Given the description of an element on the screen output the (x, y) to click on. 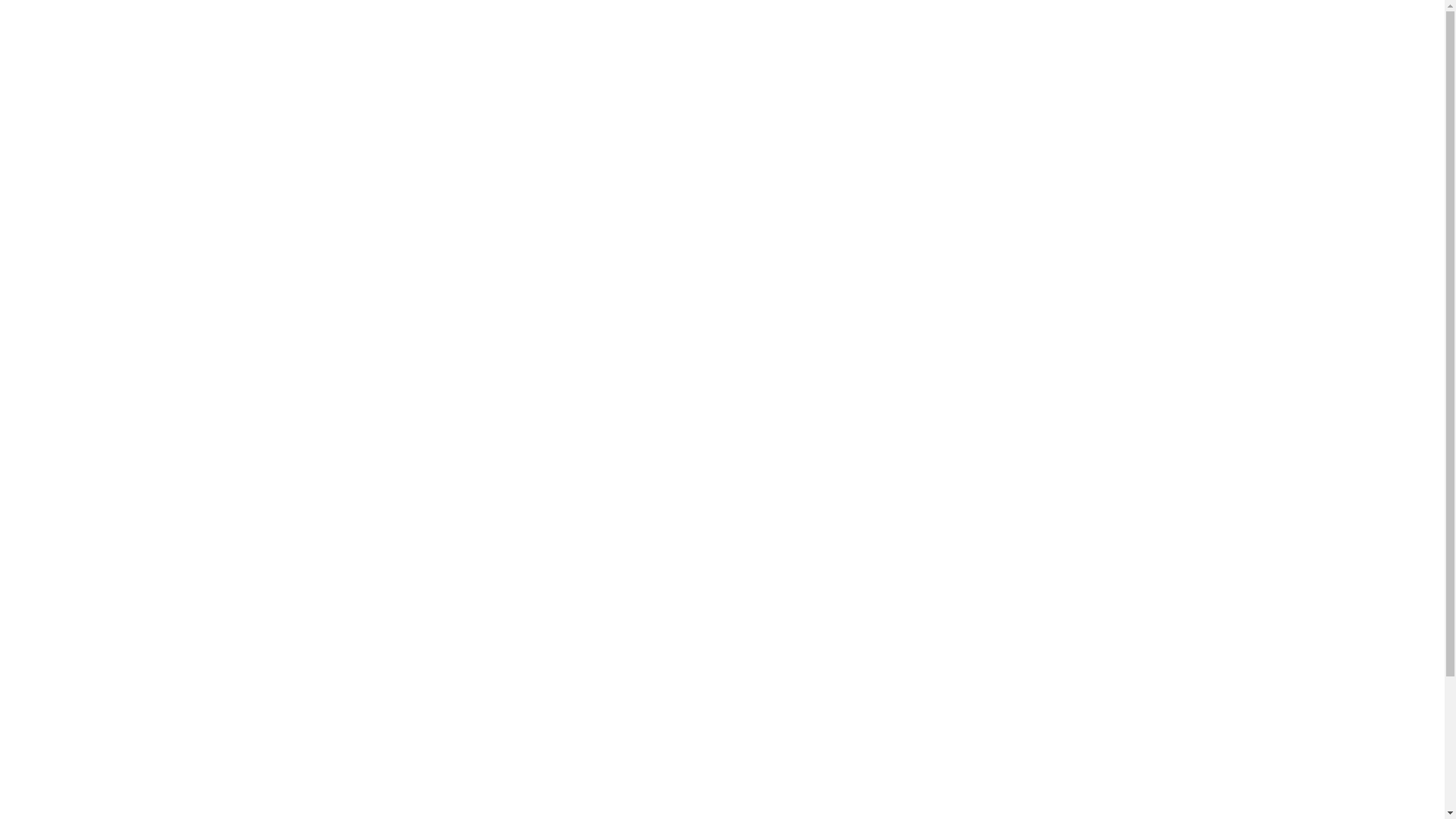
ENVOYER Element type: text (1034, 670)
